Given the description of an element on the screen output the (x, y) to click on. 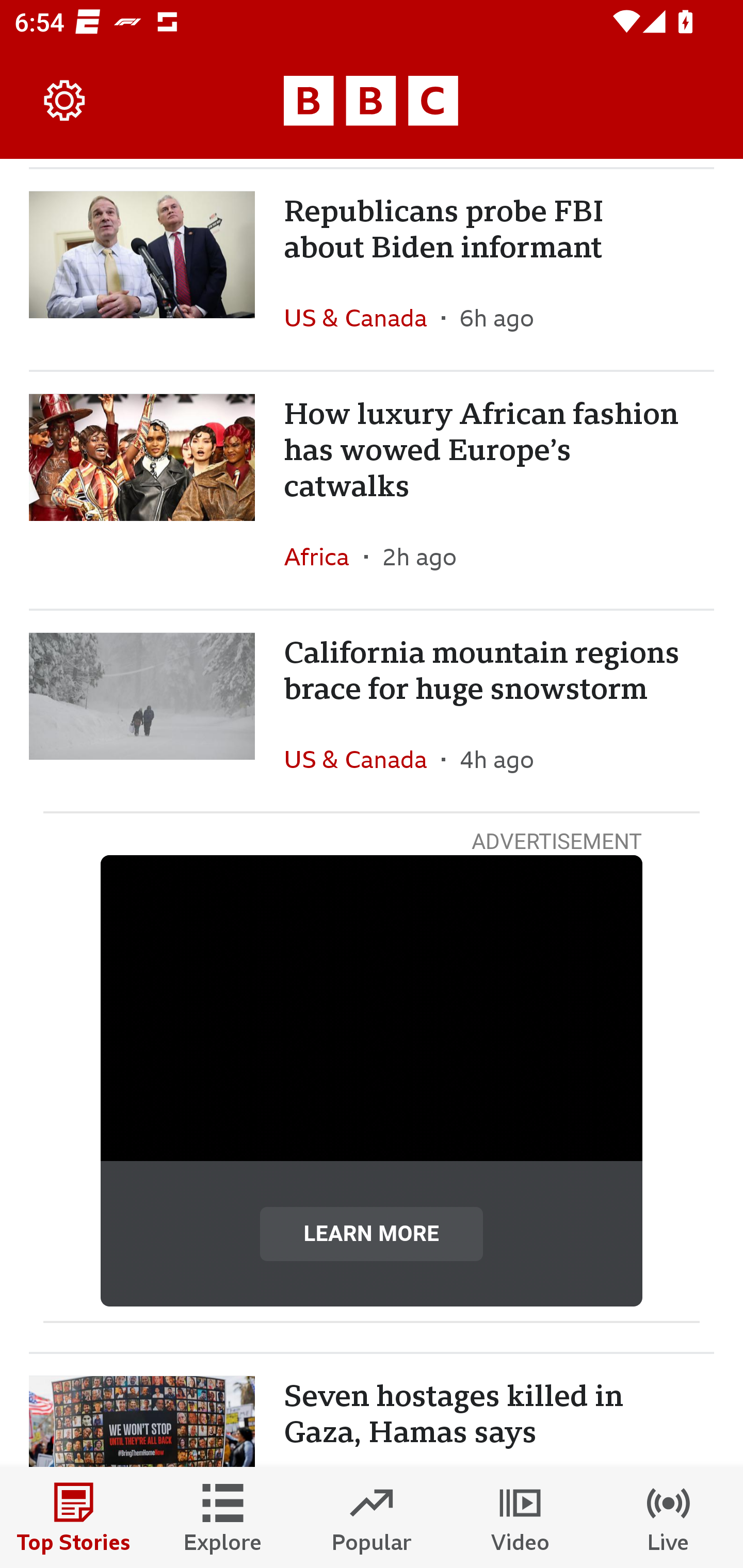
Settings (64, 100)
US & Canada In the section US & Canada (362, 317)
Africa In the section Africa (323, 556)
US & Canada In the section US & Canada (362, 758)
Video Player   LEARN MORE (371, 1080)
LEARN MORE (371, 1233)
Explore (222, 1517)
Popular (371, 1517)
Video (519, 1517)
Live (668, 1517)
